Given the description of an element on the screen output the (x, y) to click on. 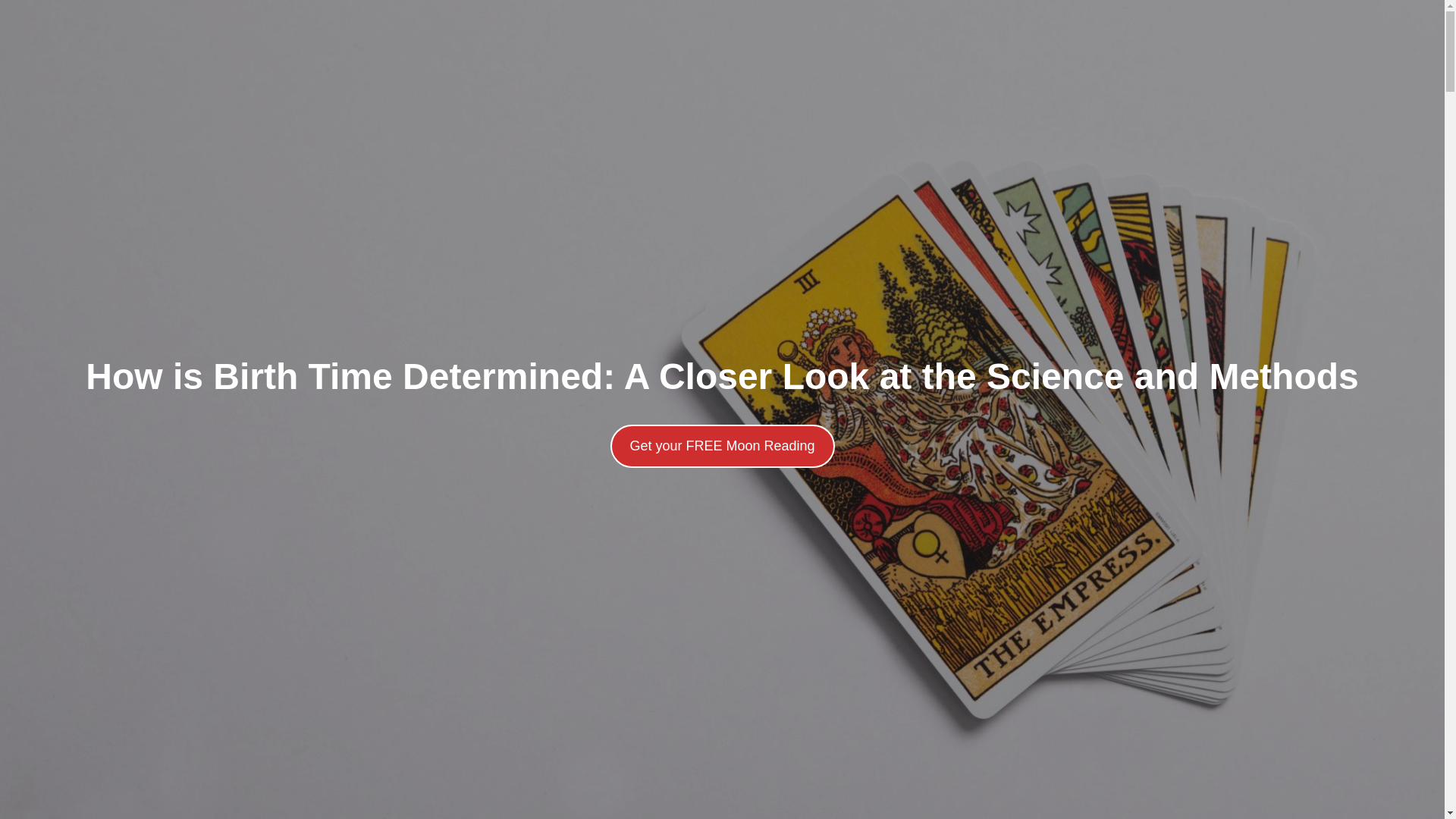
Get your FREE Moon Reading (722, 446)
